Given the description of an element on the screen output the (x, y) to click on. 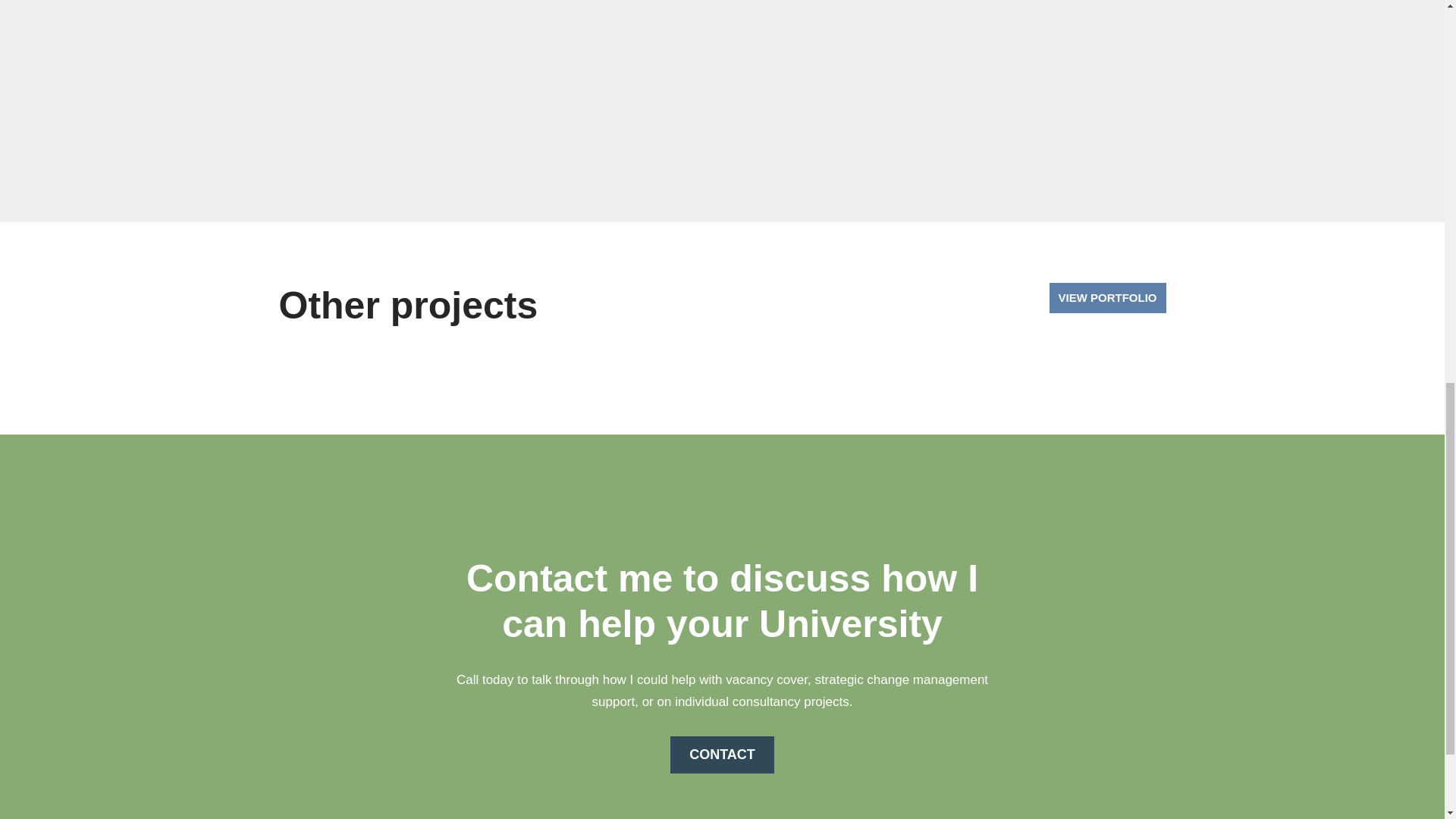
CONTACT (721, 754)
VIEW PORTFOLIO (1107, 297)
